Given the description of an element on the screen output the (x, y) to click on. 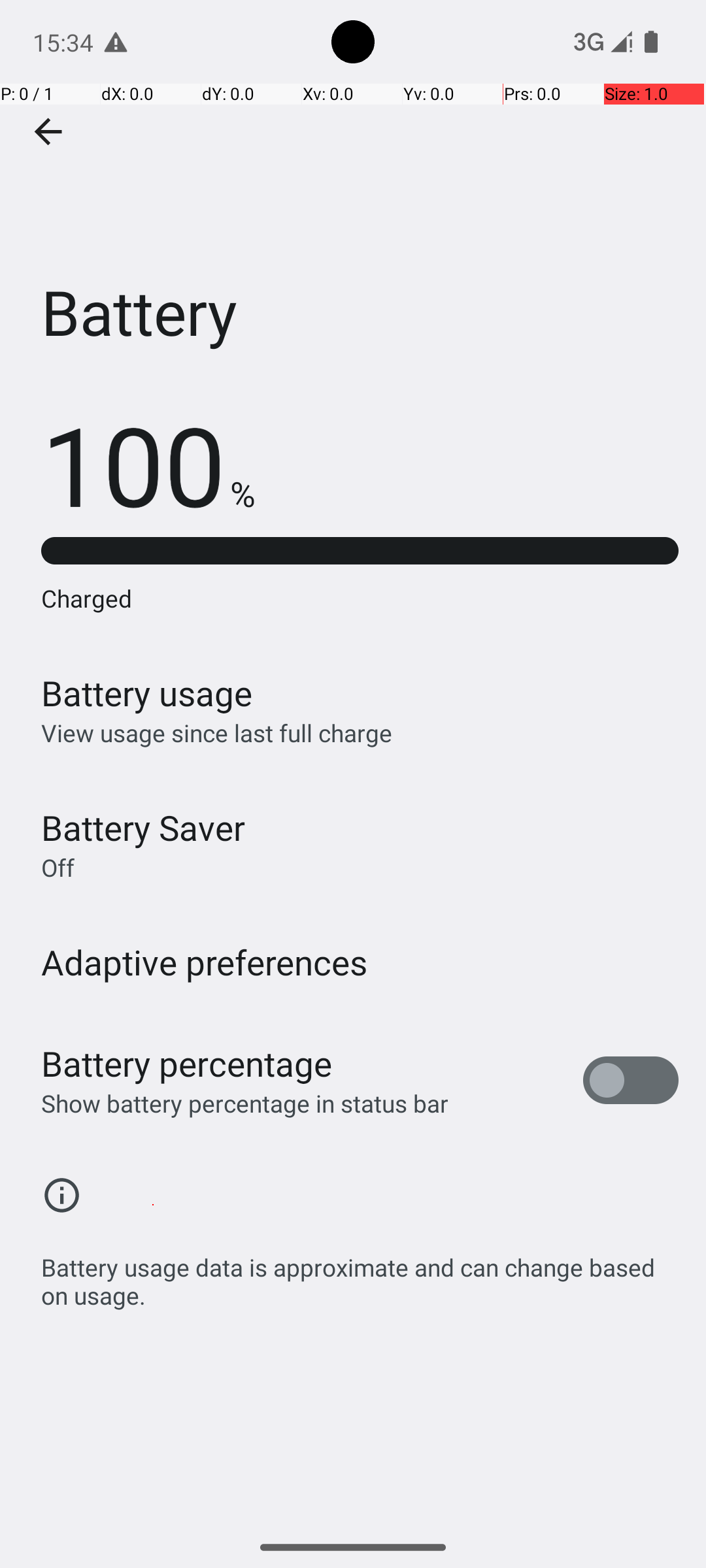
Battery Element type: android.widget.FrameLayout (353, 195)
100 % Element type: android.widget.TextView (147, 463)
Charged Element type: android.widget.TextView (359, 597)
Battery usage Element type: android.widget.TextView (146, 692)
View usage since last full charge Element type: android.widget.TextView (216, 732)
Battery Saver Element type: android.widget.TextView (143, 827)
Adaptive preferences Element type: android.widget.TextView (204, 961)
Battery percentage Element type: android.widget.TextView (186, 1063)
Show battery percentage in status bar Element type: android.widget.TextView (244, 1102)
Battery usage data is approximate and can change based on usage. Element type: android.widget.TextView (359, 1274)
